Given the description of an element on the screen output the (x, y) to click on. 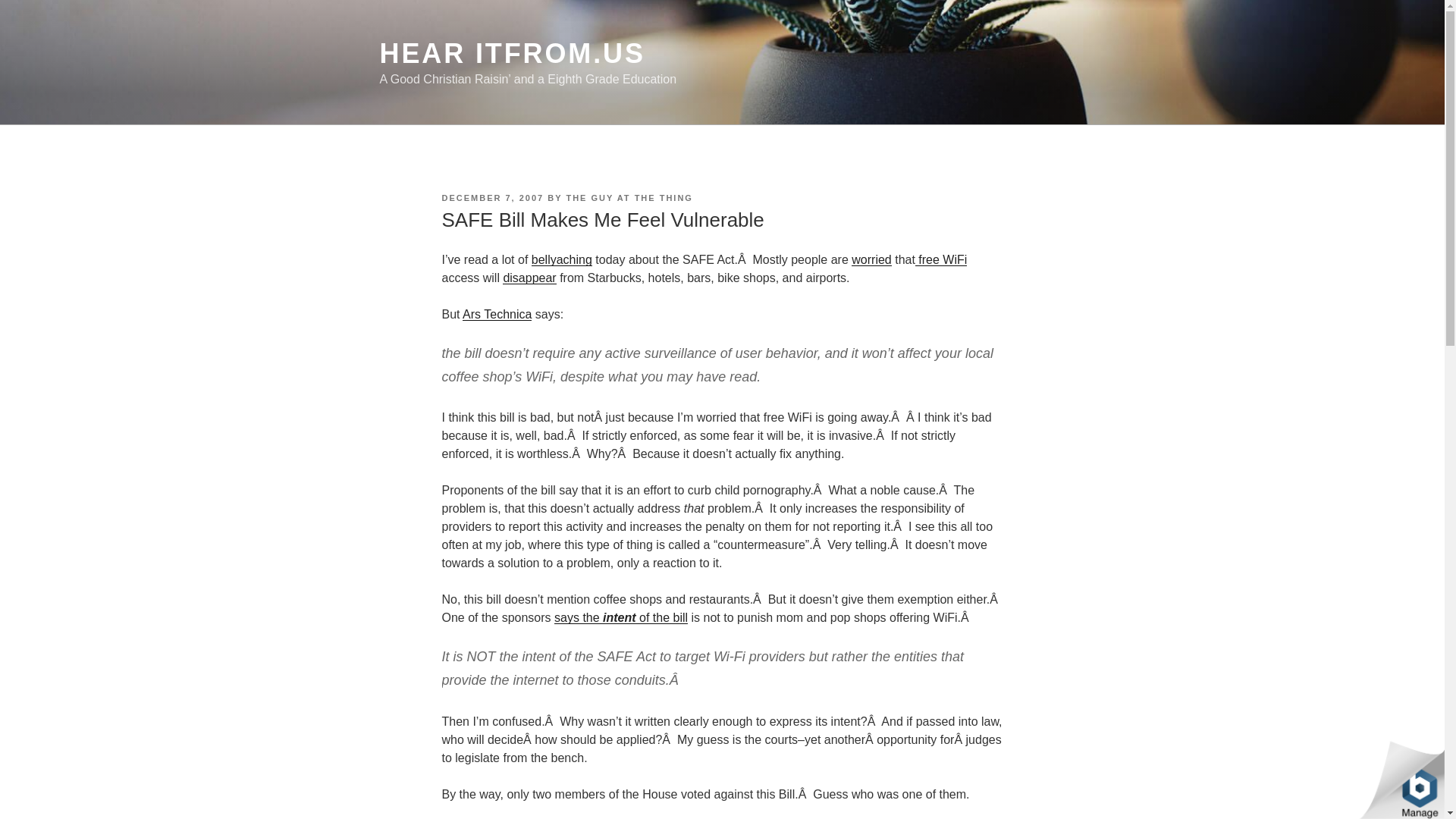
says the intent of the bill (620, 617)
Ars Technica (497, 314)
bellyaching (561, 259)
disappear (529, 277)
THE GUY AT THE THING (629, 197)
free WiFi (940, 259)
worried (871, 259)
HEAR ITFROM.US (511, 52)
DECEMBER 7, 2007 (492, 197)
